Given the description of an element on the screen output the (x, y) to click on. 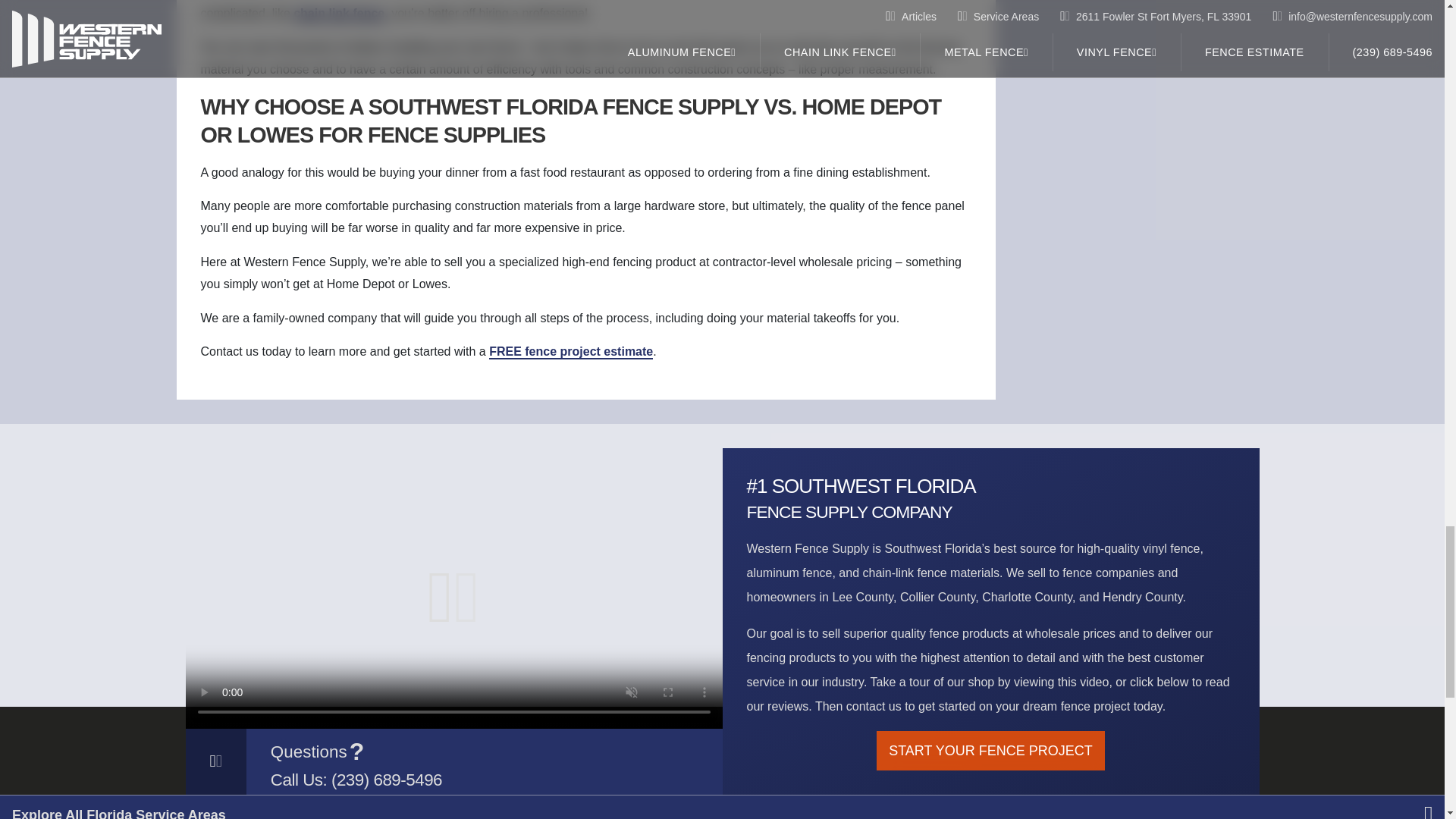
START YOUR FENCE PROJECT (990, 750)
chain link fence (339, 13)
FREE fence project estimate (570, 351)
